Given the description of an element on the screen output the (x, y) to click on. 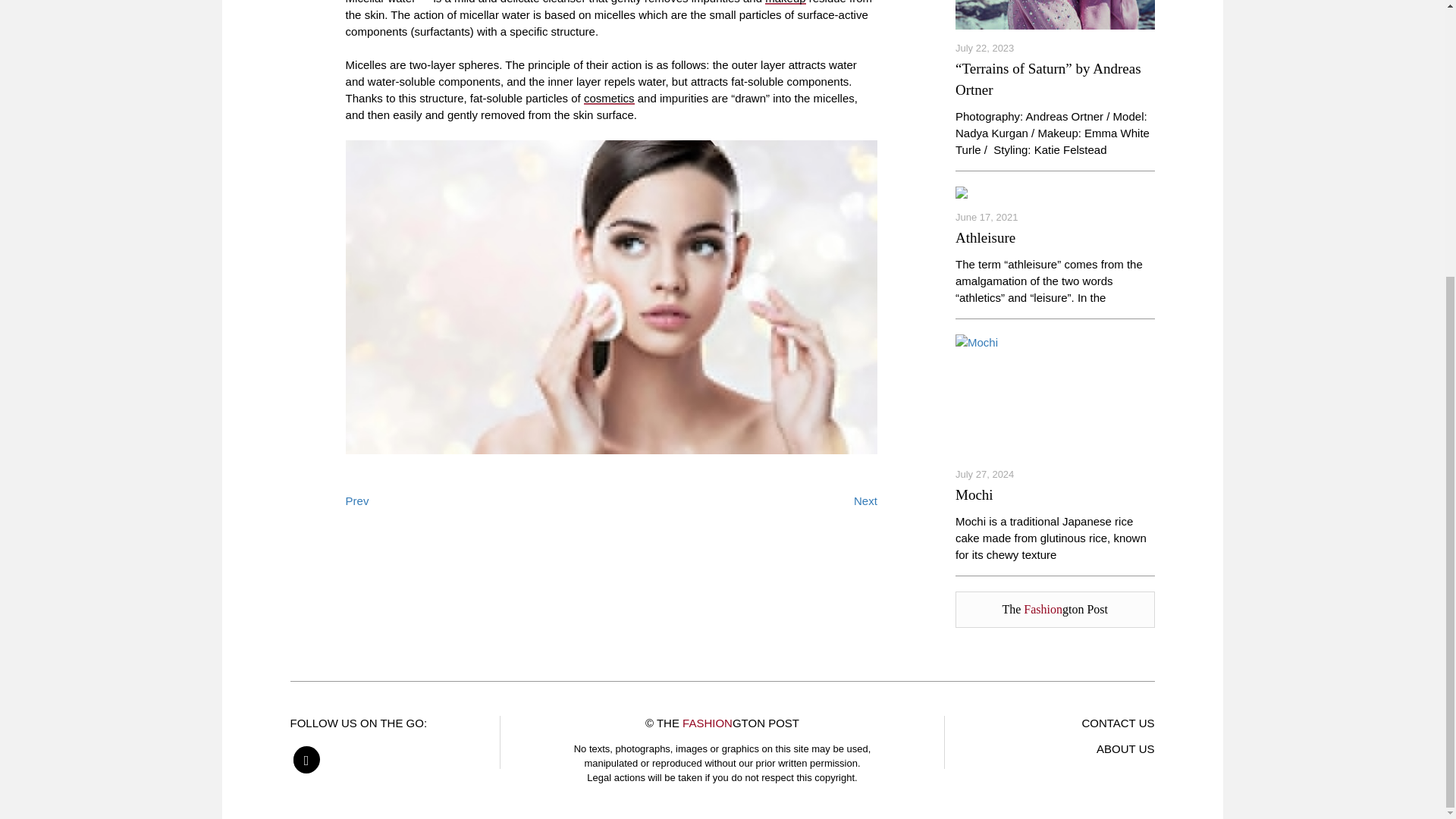
makeup (785, 2)
THE FASHIONGTON POST (727, 722)
CONTACT US (1117, 722)
cosmetics (608, 97)
ABOUT US (1125, 748)
Next (865, 500)
Prev (357, 500)
